Given the description of an element on the screen output the (x, y) to click on. 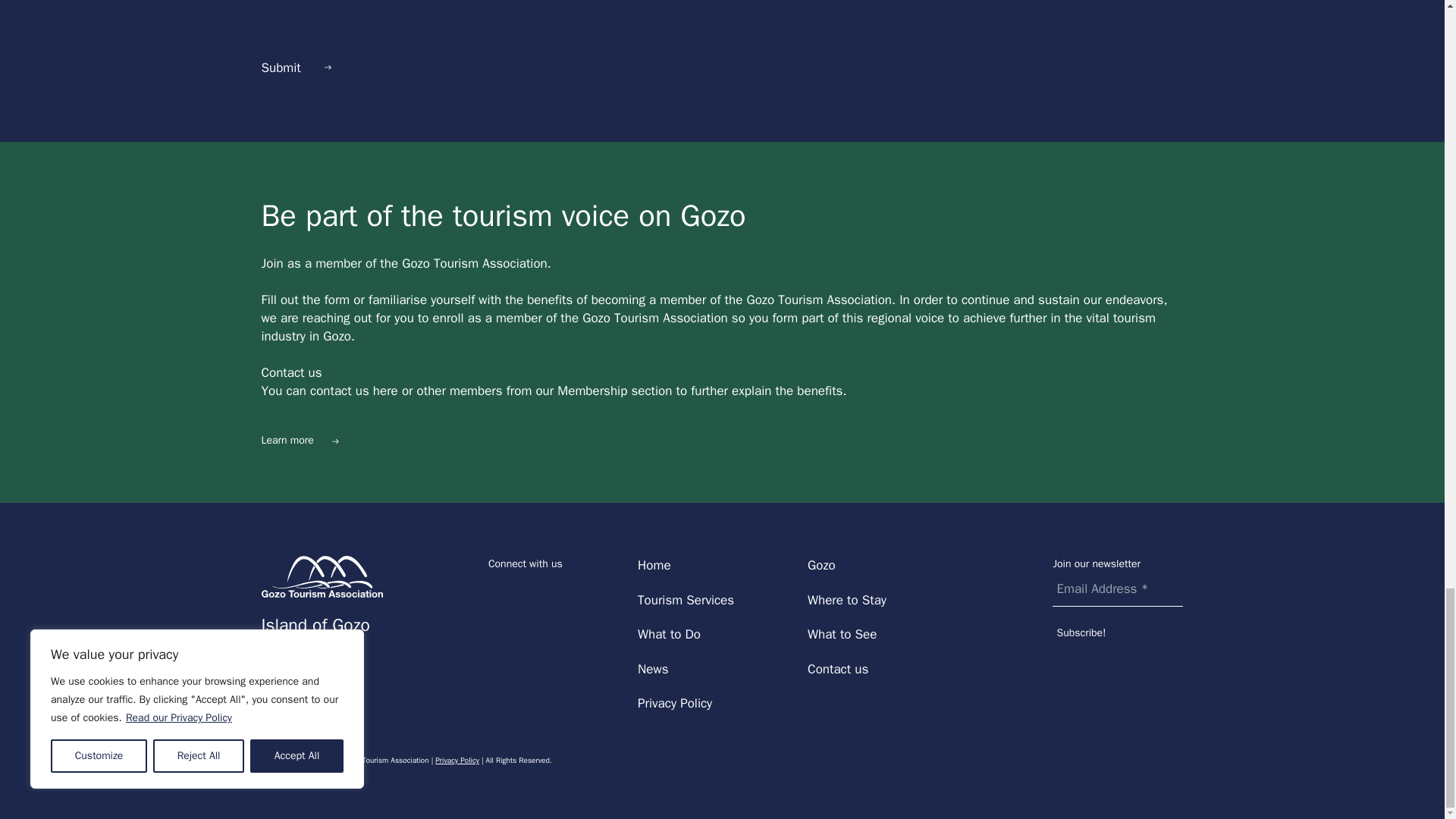
Email Address (1117, 592)
Subscribe! (1117, 632)
